Given the description of an element on the screen output the (x, y) to click on. 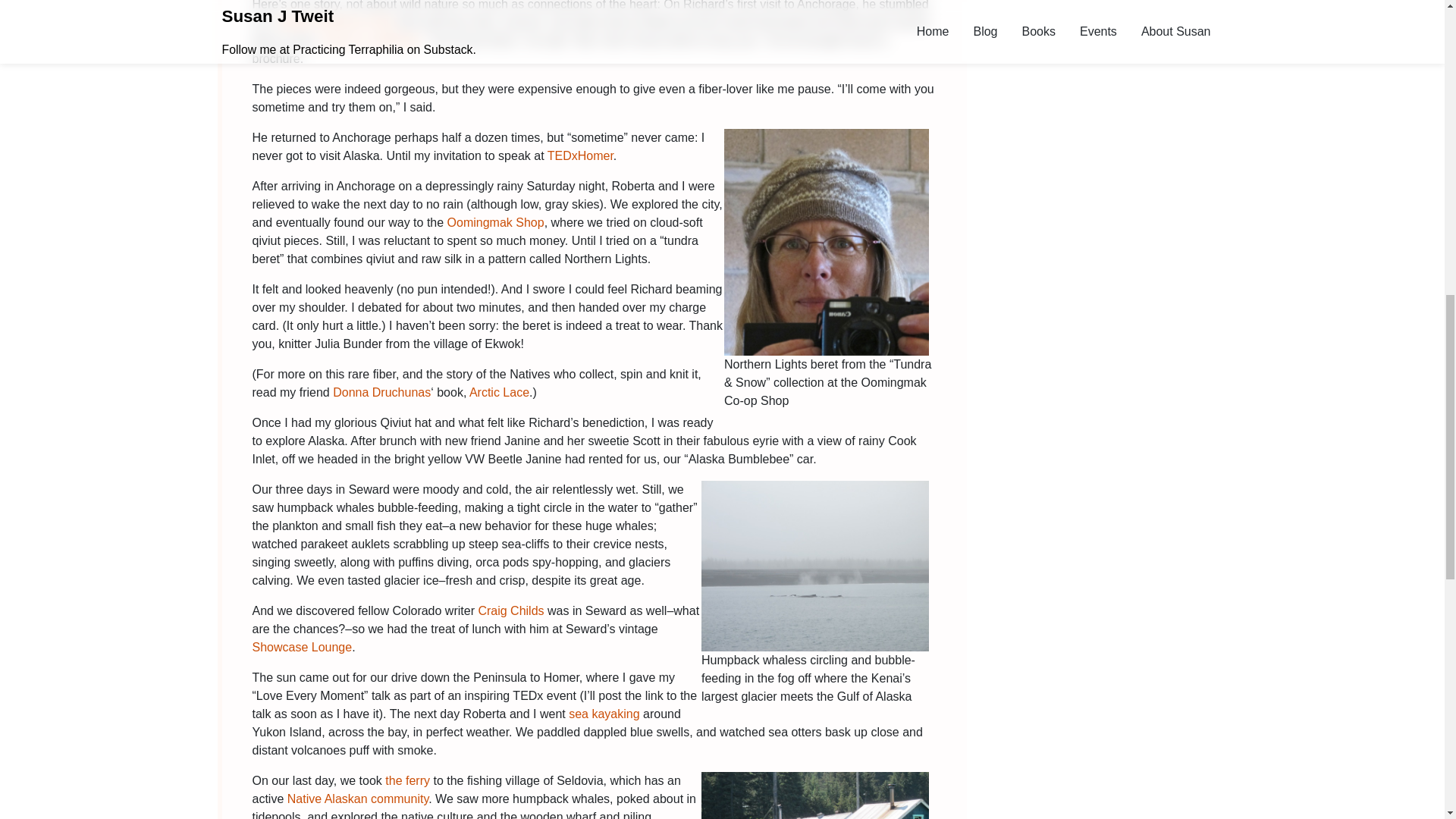
the ferry (405, 780)
humpiesbubbling (814, 565)
Arctic Lace (498, 391)
Craig Childs (510, 610)
sea kayaking (604, 713)
Oomingmak Shop (495, 222)
TEDxHomer (579, 155)
musk ox underhair (369, 40)
tundraberet (825, 241)
Donna Druchunas (381, 391)
